Given the description of an element on the screen output the (x, y) to click on. 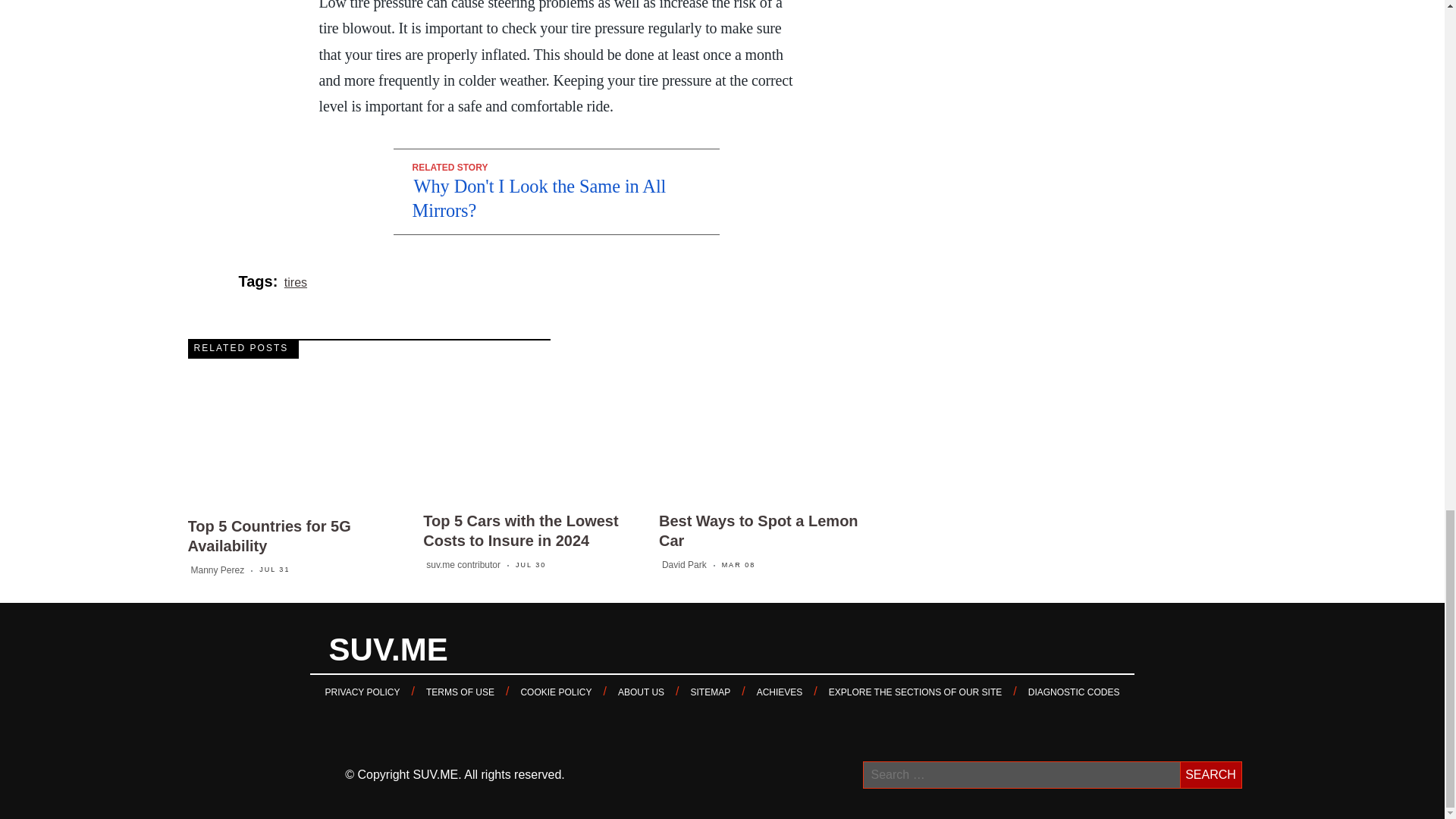
Search (1210, 774)
Search (1210, 774)
